Given the description of an element on the screen output the (x, y) to click on. 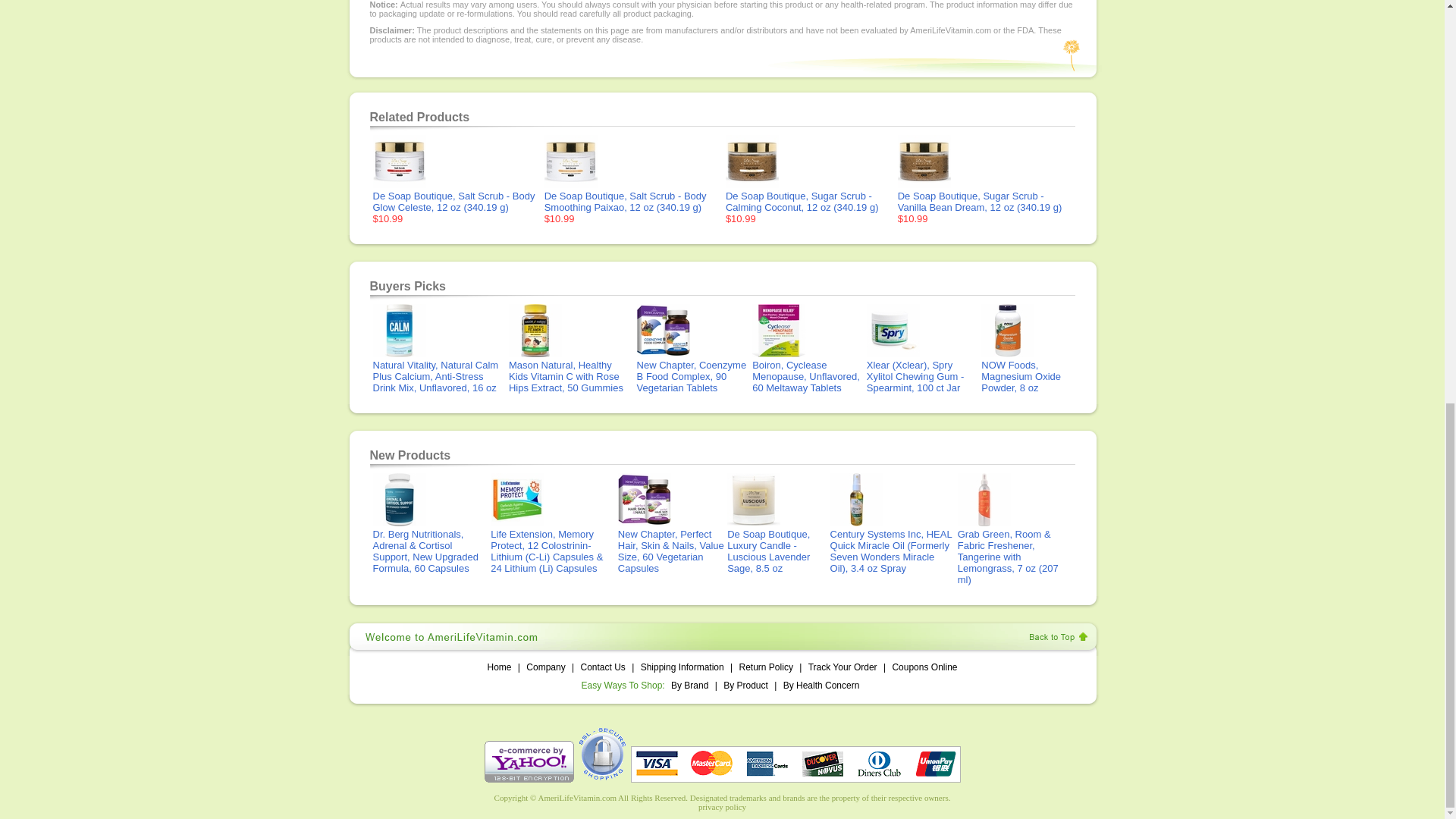
Boiron, Cyclease Menopause, Unflavored, 60 Meltaway Tablets (806, 370)
By Product (746, 685)
By Health Concern (820, 685)
NOW Foods, Magnesium Oxide Powder, 8 oz (1021, 370)
Home (499, 667)
Company (545, 667)
Shipping Information (682, 667)
Return Policy (765, 667)
New Chapter, Coenzyme B Food Complex, 90 Vegetarian Tablets (691, 370)
Contact Us (602, 667)
Track Your Order (842, 667)
By Brand (688, 685)
